Given the description of an element on the screen output the (x, y) to click on. 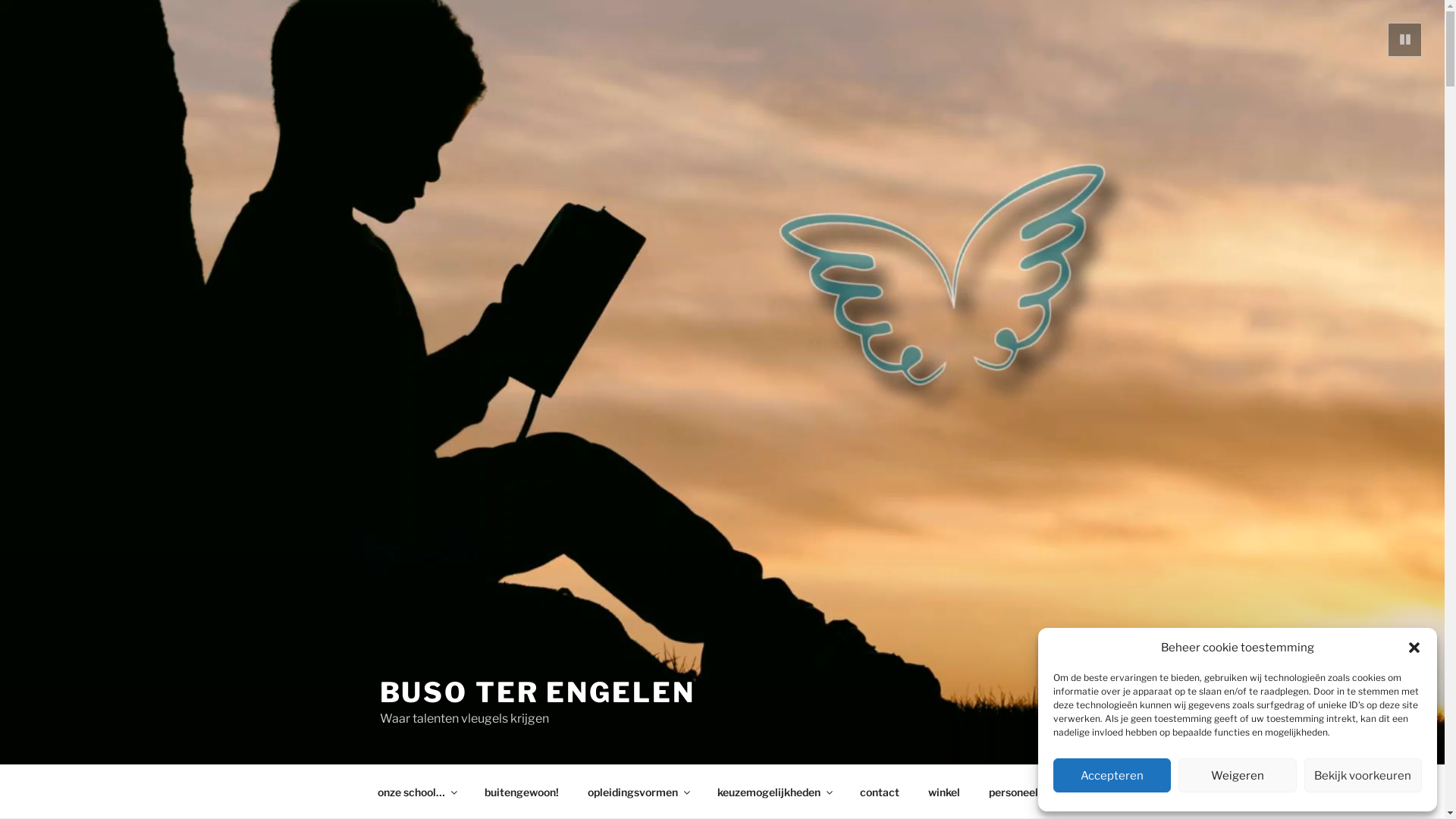
opleidingsvormen Element type: text (638, 791)
keuzemogelijkheden Element type: text (773, 791)
Pauzeer achtergrond video Element type: text (1404, 39)
buitengewoon! Element type: text (521, 791)
Bekijk voorkeuren Element type: text (1362, 775)
Weigeren Element type: text (1236, 775)
personeel Element type: text (1013, 791)
BUSO TER ENGELEN Element type: text (536, 692)
Accepteren Element type: text (1111, 775)
contact Element type: text (879, 791)
Naar beneden scrollen naar inhoud Element type: text (1083, 790)
winkel Element type: text (943, 791)
